Given the description of an element on the screen output the (x, y) to click on. 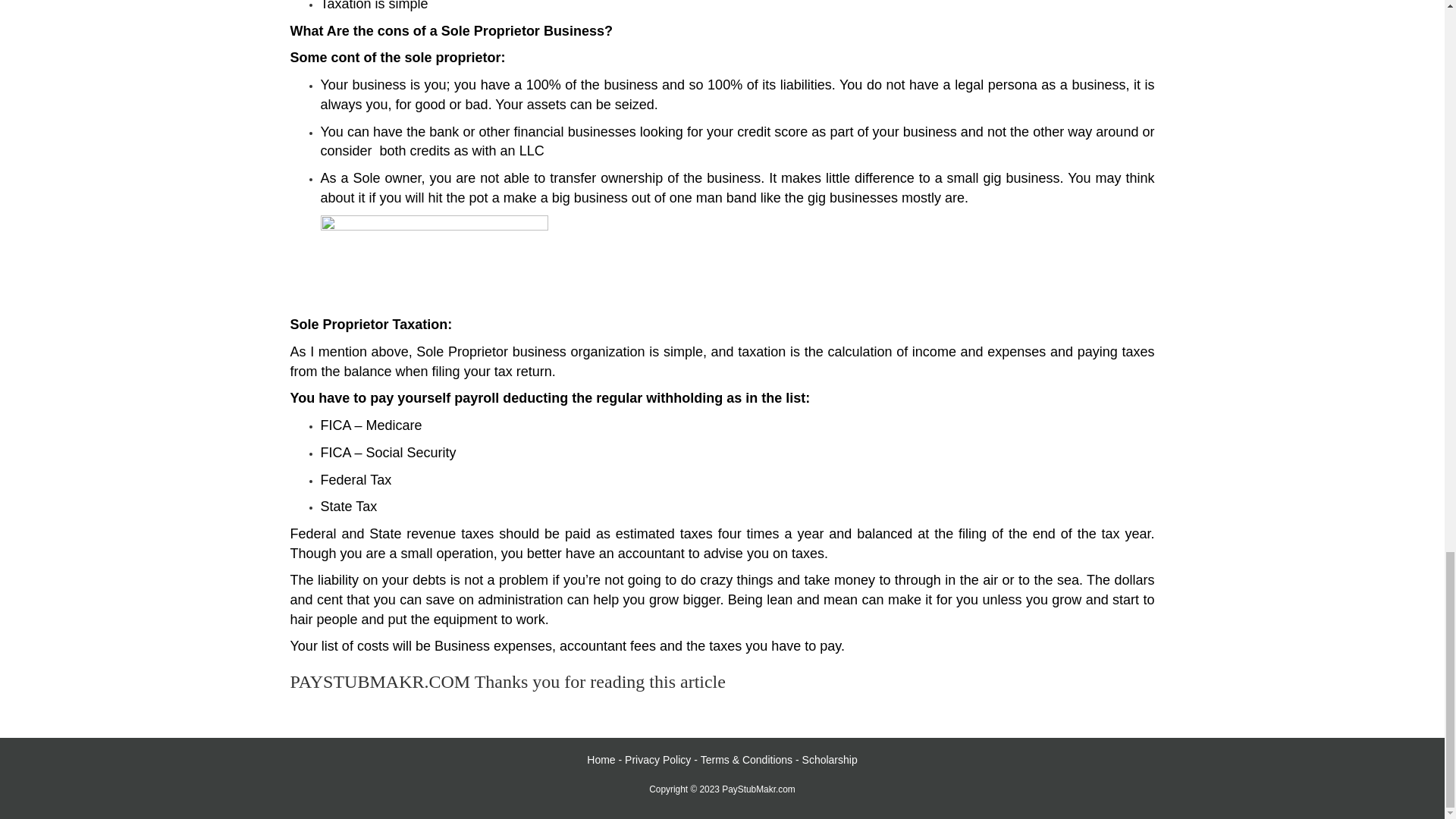
Scholarship (829, 759)
PayStubMakr.com (758, 788)
Home (600, 759)
Homepage (600, 759)
Privacy Policy (657, 759)
Scholarship (829, 759)
Privacy Policy (657, 759)
